Given the description of an element on the screen output the (x, y) to click on. 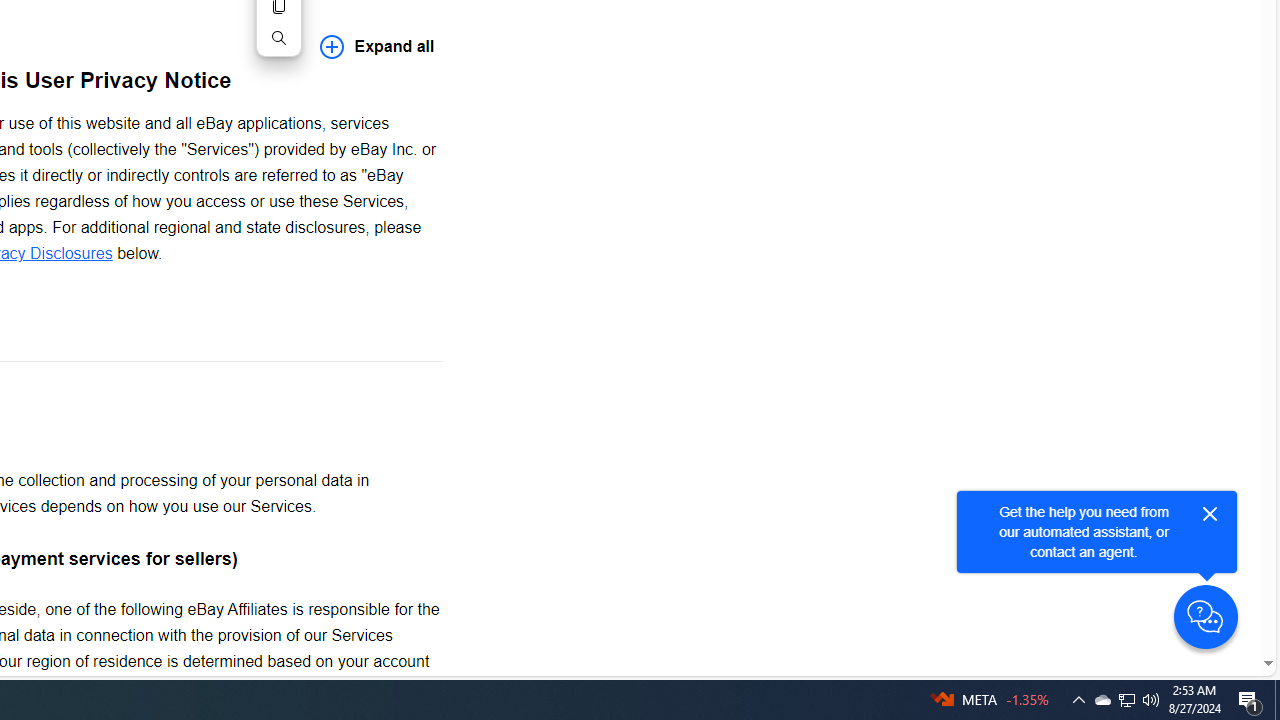
Expand all (377, 45)
